Given the description of an element on the screen output the (x, y) to click on. 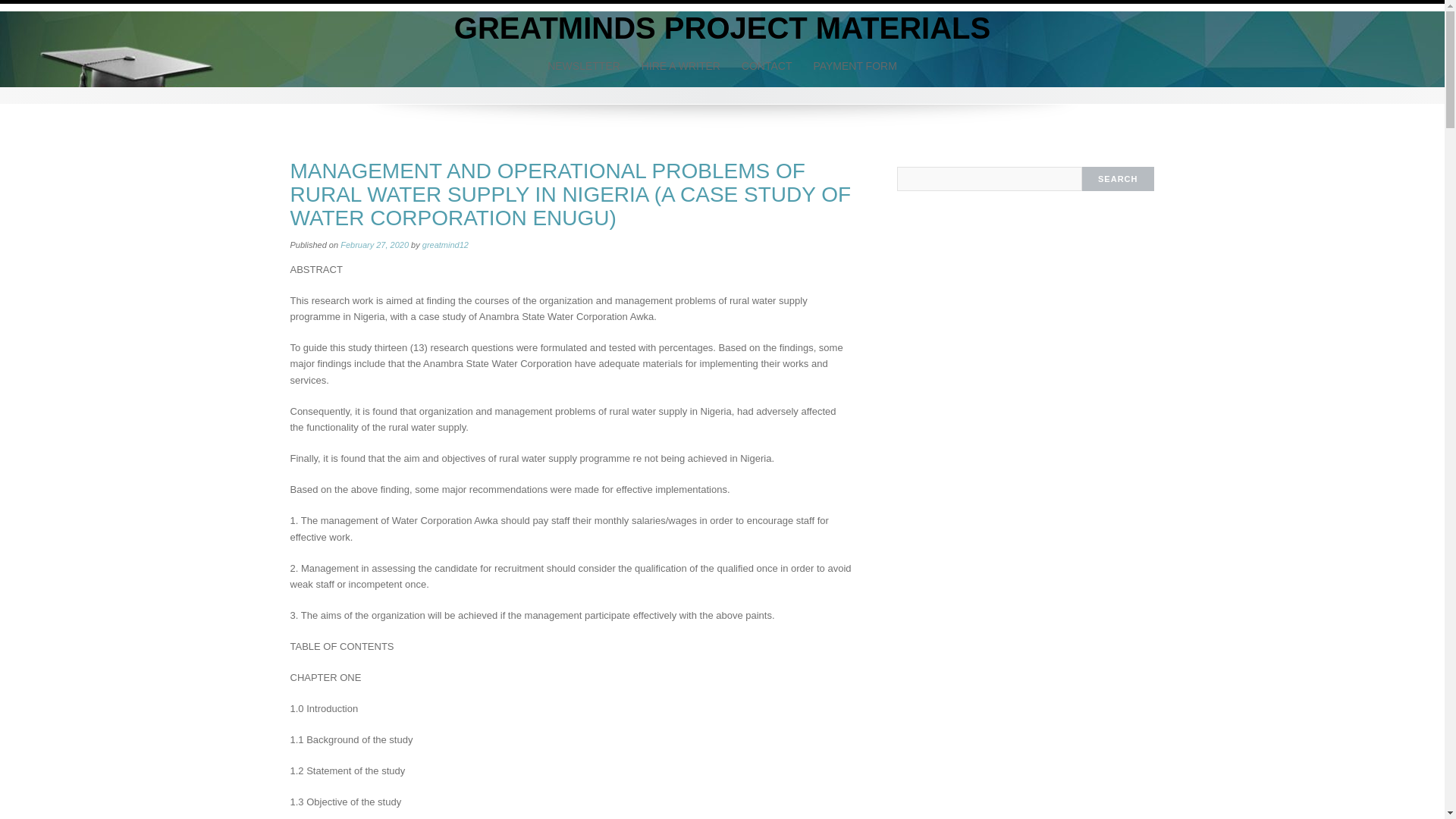
February 27, 2020 (374, 244)
NEWSLETTER (583, 65)
PAYMENT FORM (854, 65)
Search (1117, 178)
CONTACT (767, 65)
GREATMINDS PROJECT MATERIALS (722, 28)
HIRE A WRITER (680, 65)
Search (1117, 178)
greatmind12 (722, 28)
